Given the description of an element on the screen output the (x, y) to click on. 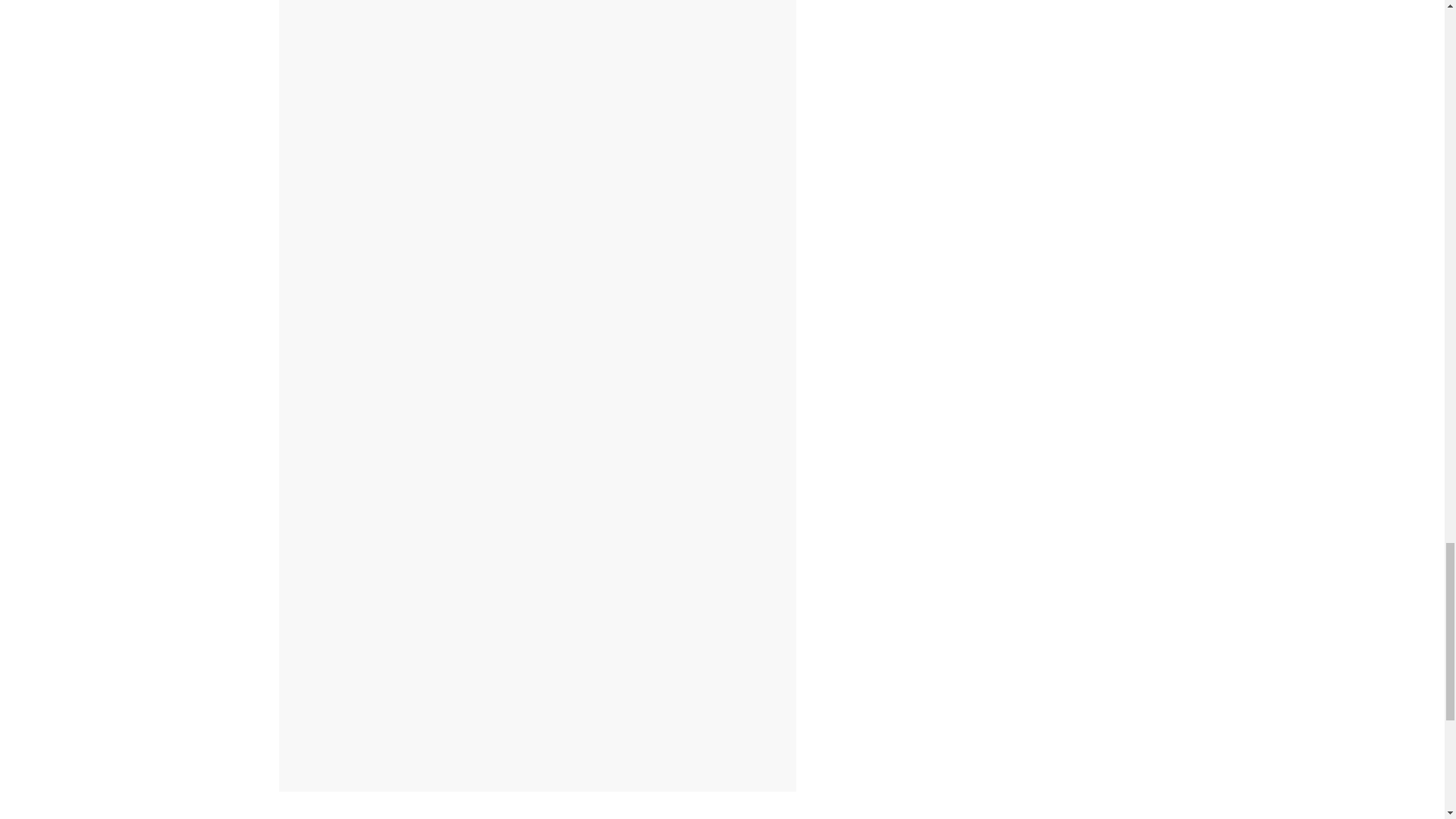
Learn how your comment data is processed (620, 751)
Artists (473, 242)
film festival (501, 279)
permalink (682, 279)
Priyanka Karki (562, 279)
Artists (409, 279)
Artists (641, 228)
Artists (306, 256)
